Given the description of an element on the screen output the (x, y) to click on. 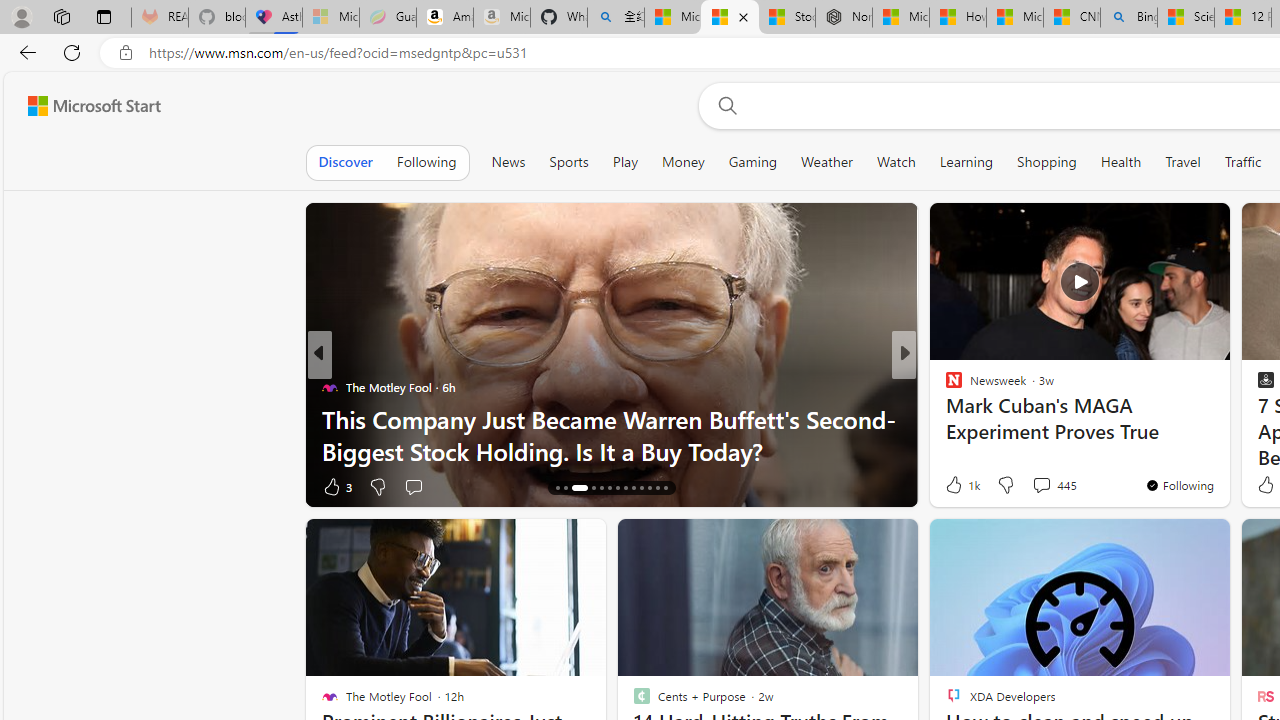
View comments 30 Comment (1036, 485)
Health (1121, 162)
Hide this story (1169, 542)
Business Insider (944, 386)
AutomationID: tab-17 (592, 487)
Health (1121, 161)
Learning (965, 161)
The Motley Fool (944, 386)
